Given the description of an element on the screen output the (x, y) to click on. 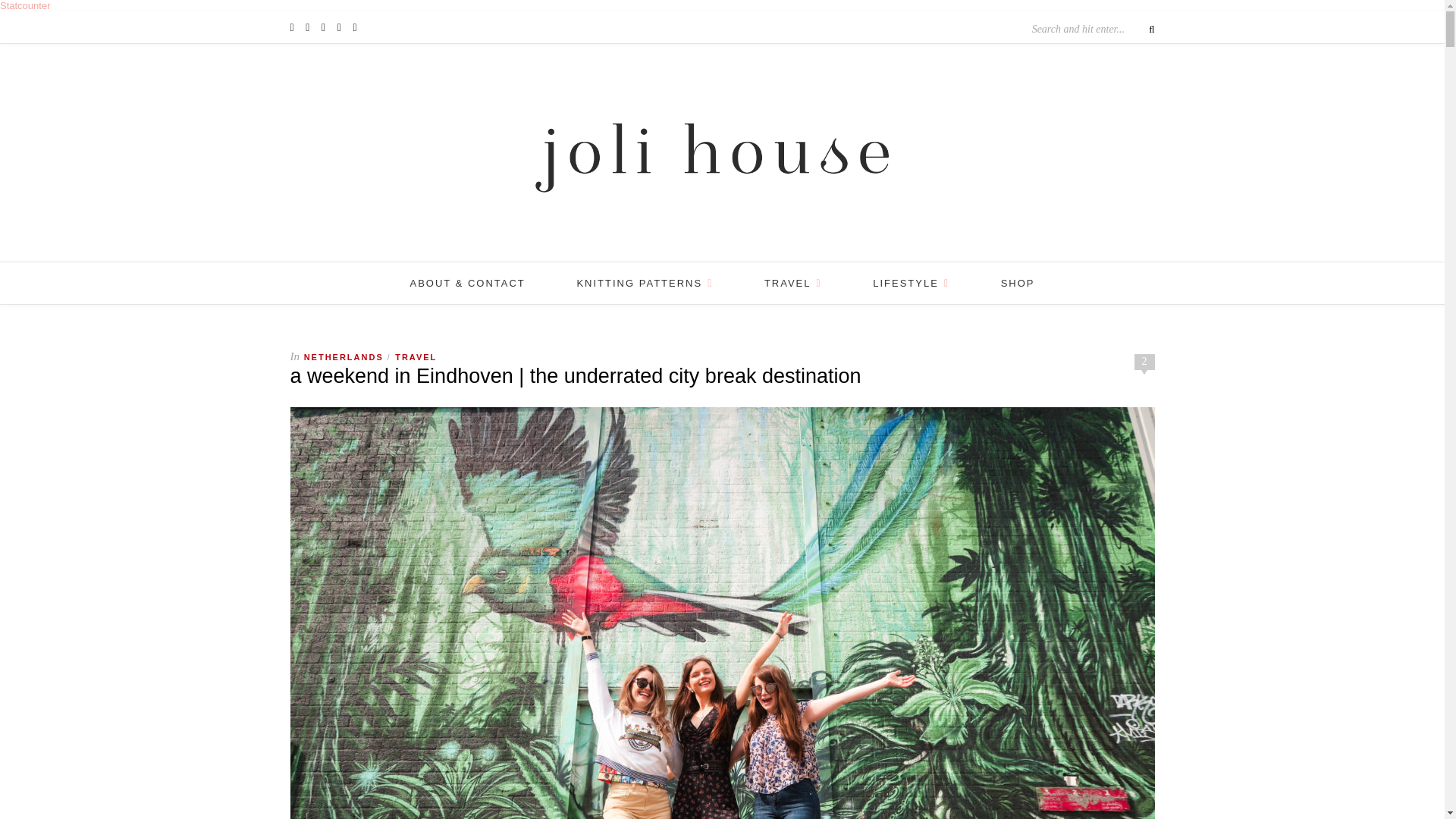
Statcounter (25, 5)
KNITTING PATTERNS (644, 282)
TRAVEL (793, 282)
LIFESTYLE (910, 282)
